Given the description of an element on the screen output the (x, y) to click on. 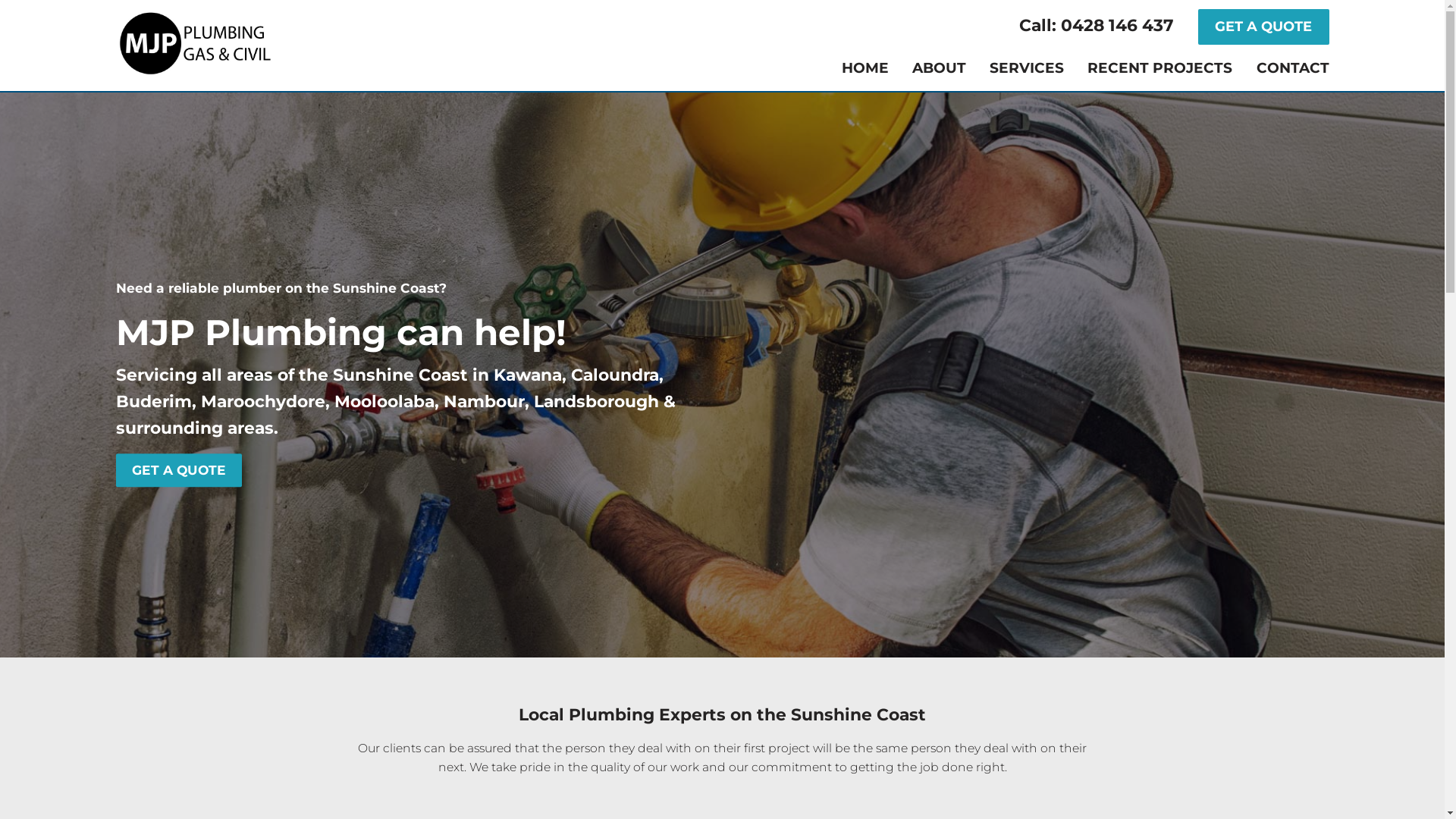
SERVICES Element type: text (1026, 68)
GET A QUOTE Element type: text (178, 470)
MJP Plumbing Element type: hover (193, 42)
Call: 0428 146 437 Element type: text (1106, 26)
ABOUT Element type: text (939, 68)
GET A QUOTE Element type: text (1263, 26)
HOME Element type: text (864, 68)
RECENT PROJECTS Element type: text (1159, 68)
CONTACT Element type: text (1291, 68)
